Given the description of an element on the screen output the (x, y) to click on. 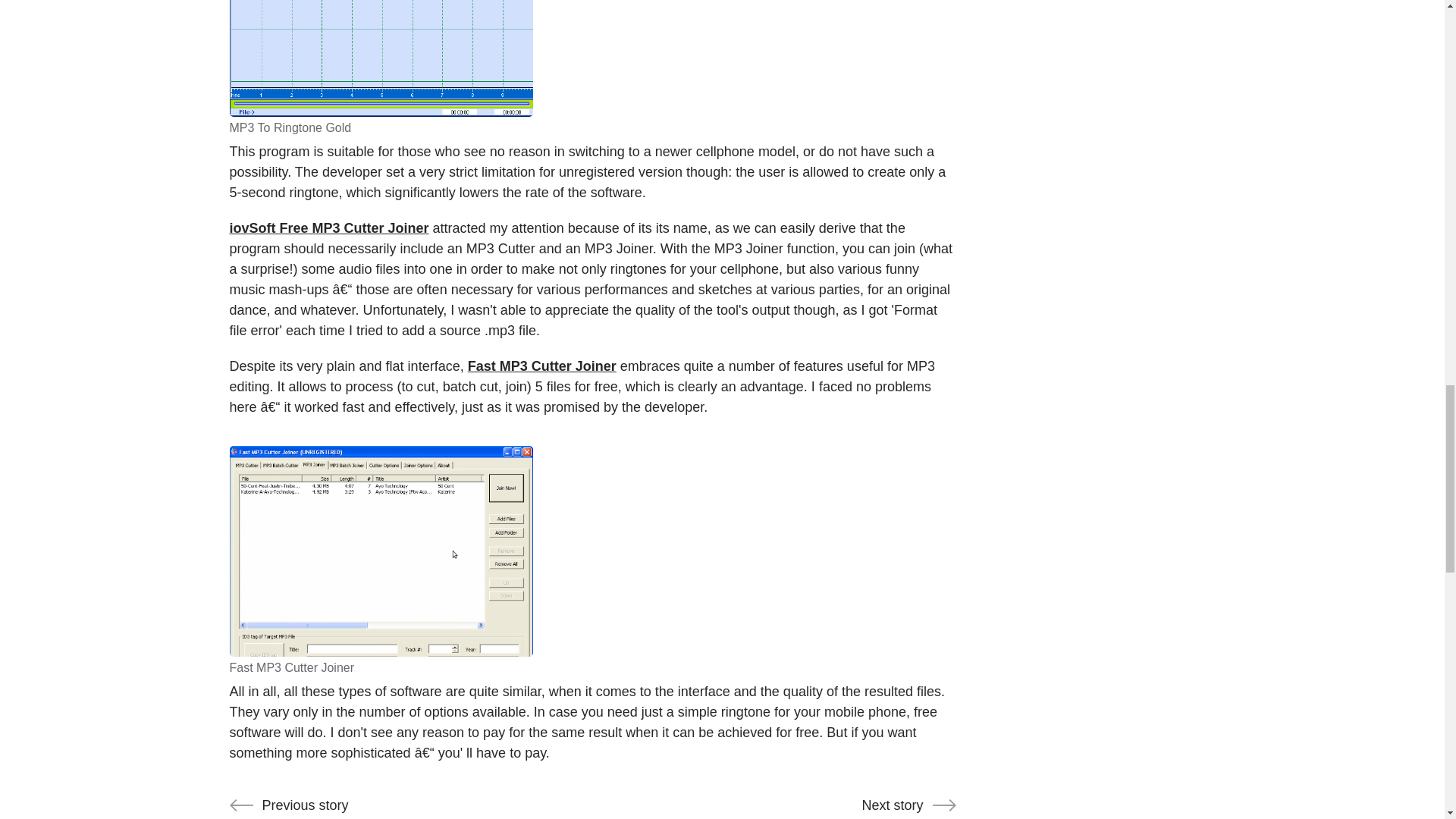
iovSoft Free MP3 Cutter Joiner (328, 227)
MP3 To Ringtone Gold (406, 808)
Fast MP3 Cutter Joiner (380, 58)
Fast MP3 Cutter Joiner (380, 550)
